Given the description of an element on the screen output the (x, y) to click on. 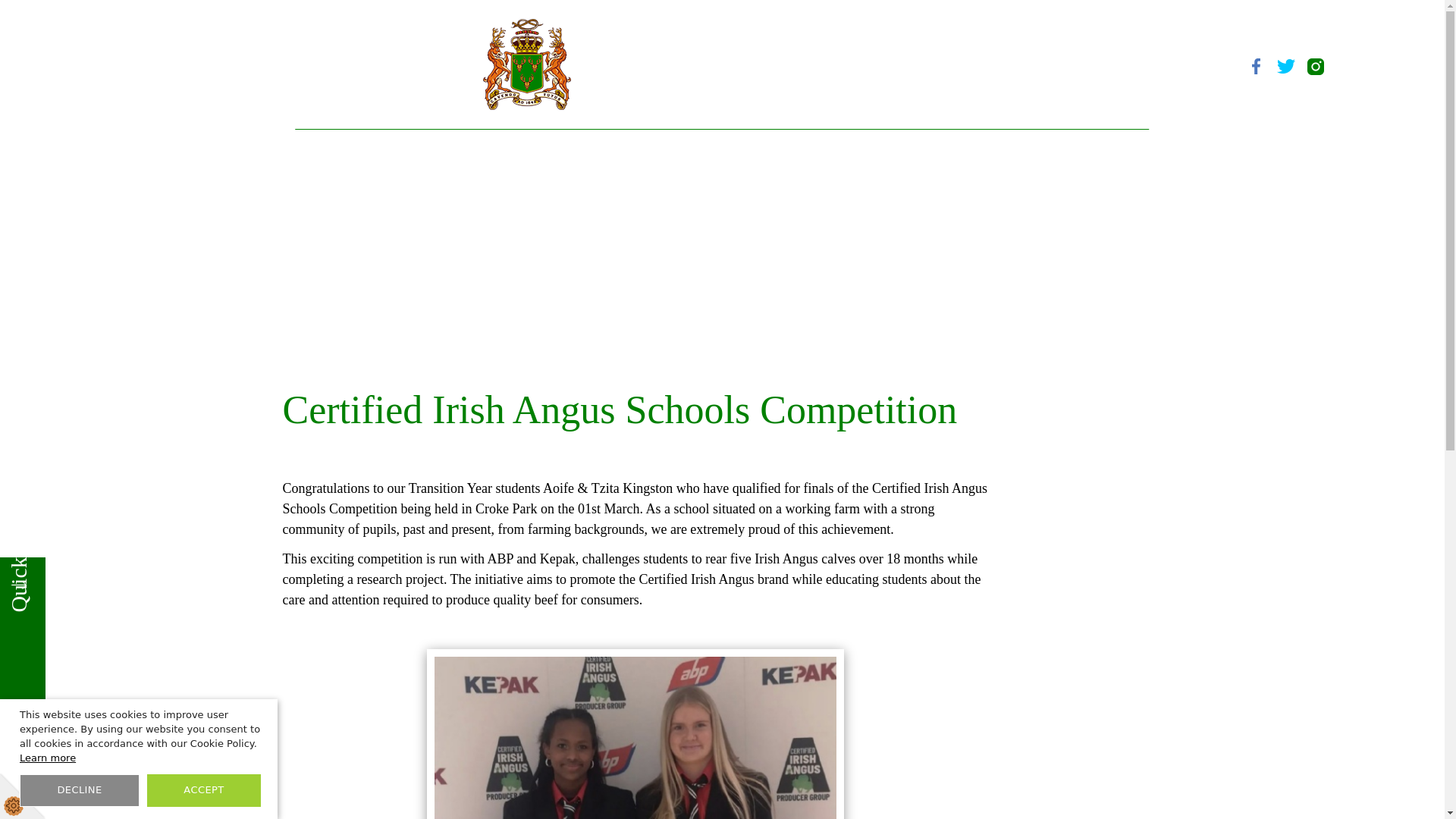
Facebook (1255, 66)
Instagram (1315, 66)
Bandon Grammar School (722, 63)
Parents (562, 147)
Home (313, 147)
Aoife Kingston, Tzita Kingston (634, 734)
Curriculum (481, 147)
Search (1195, 66)
Twitter (1285, 66)
Translate (1224, 66)
Our School (389, 147)
